Given the description of an element on the screen output the (x, y) to click on. 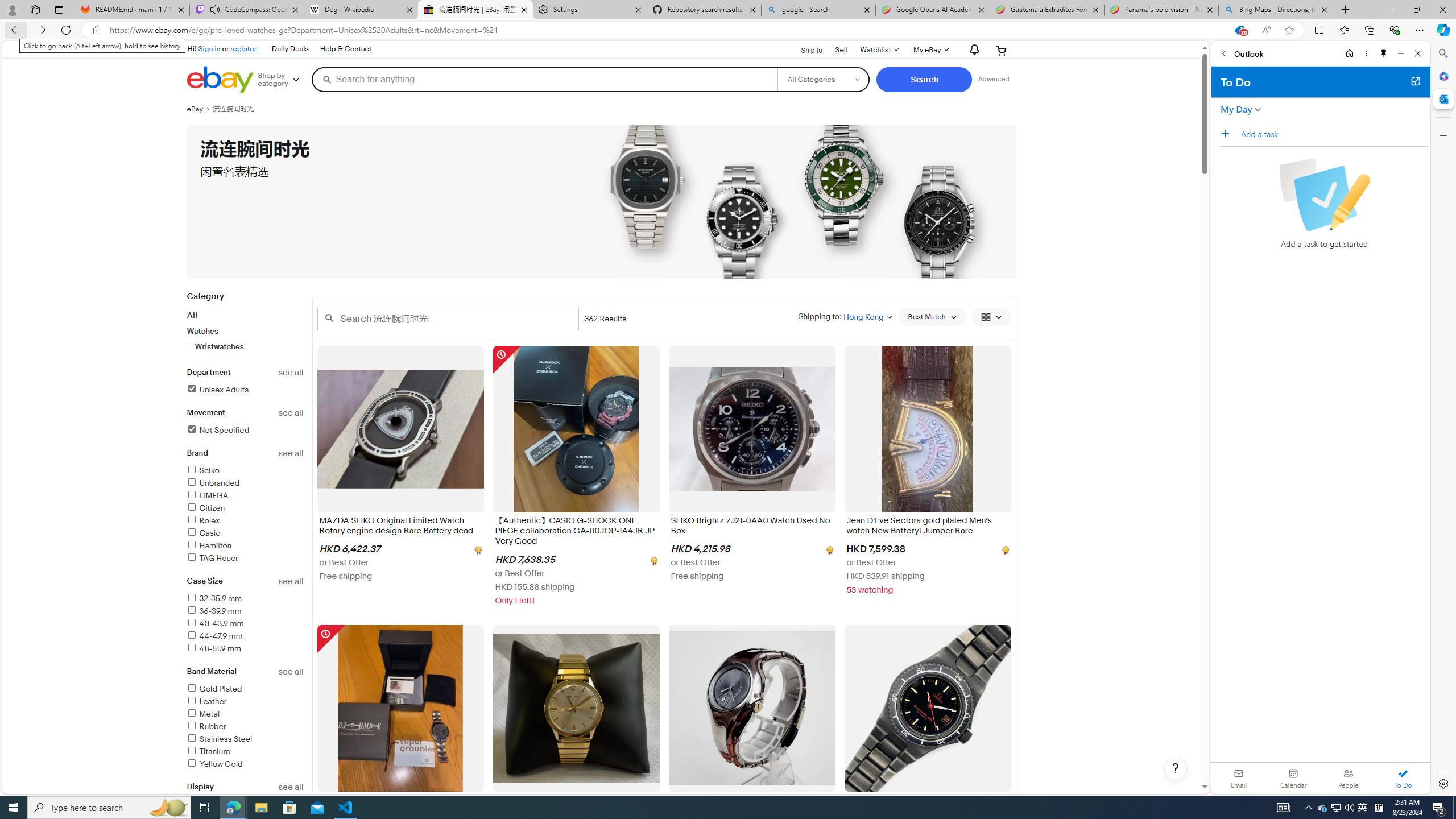
Unpin side pane (1383, 53)
40-43.9 mm (245, 624)
Your shopping cart (1001, 49)
eBay (199, 108)
Movementsee allNot SpecifiedFilter Applied (245, 427)
Leather (206, 700)
